Given the description of an element on the screen output the (x, y) to click on. 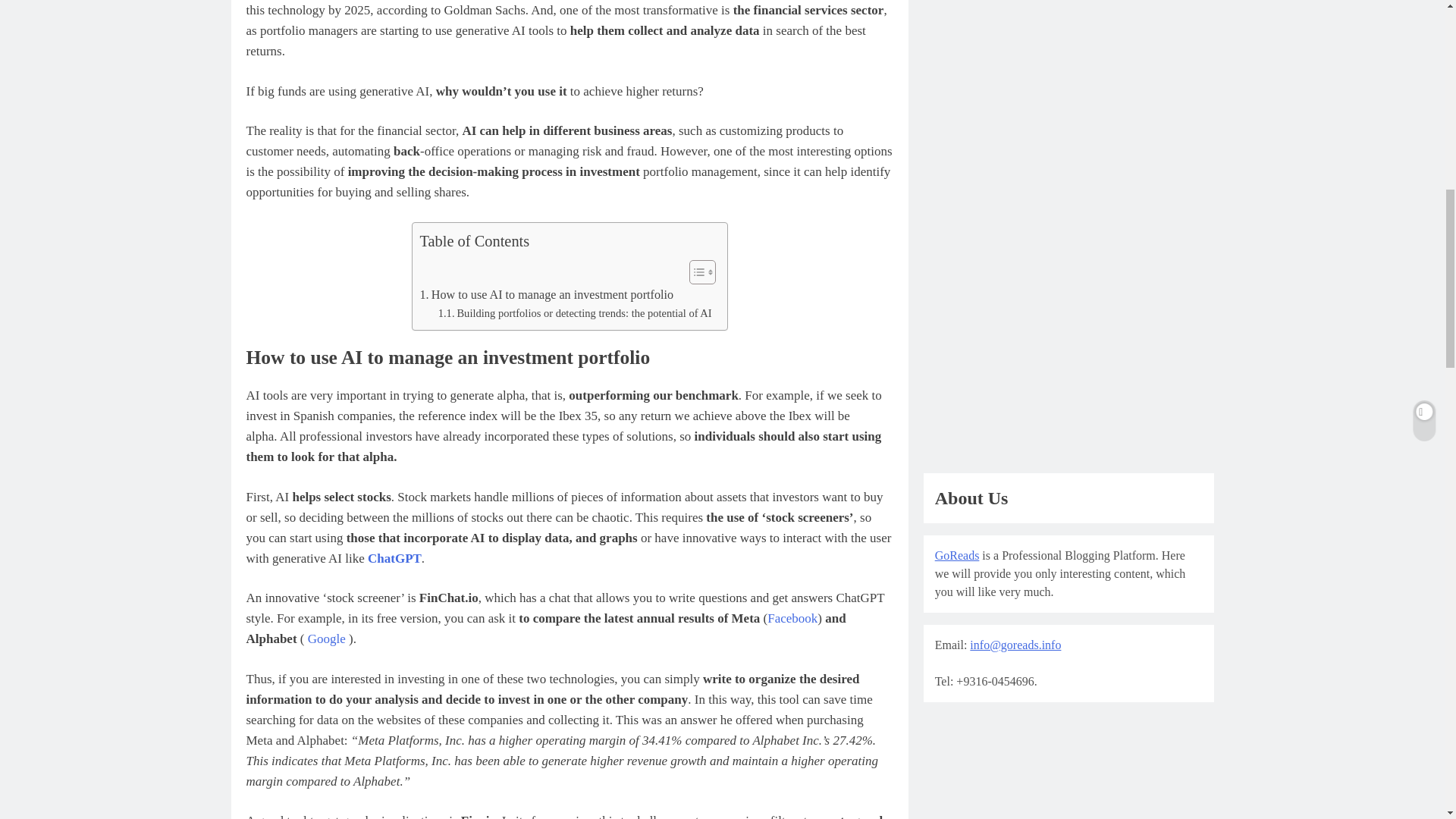
Google (326, 638)
ChatGPT (395, 558)
How to use AI to manage an investment portfolio (547, 294)
How to use AI to manage an investment portfolio (547, 294)
Building portfolios or detecting trends: the potential of AI (574, 313)
Building portfolios or detecting trends: the potential of AI (574, 313)
Facebook (791, 617)
